Given the description of an element on the screen output the (x, y) to click on. 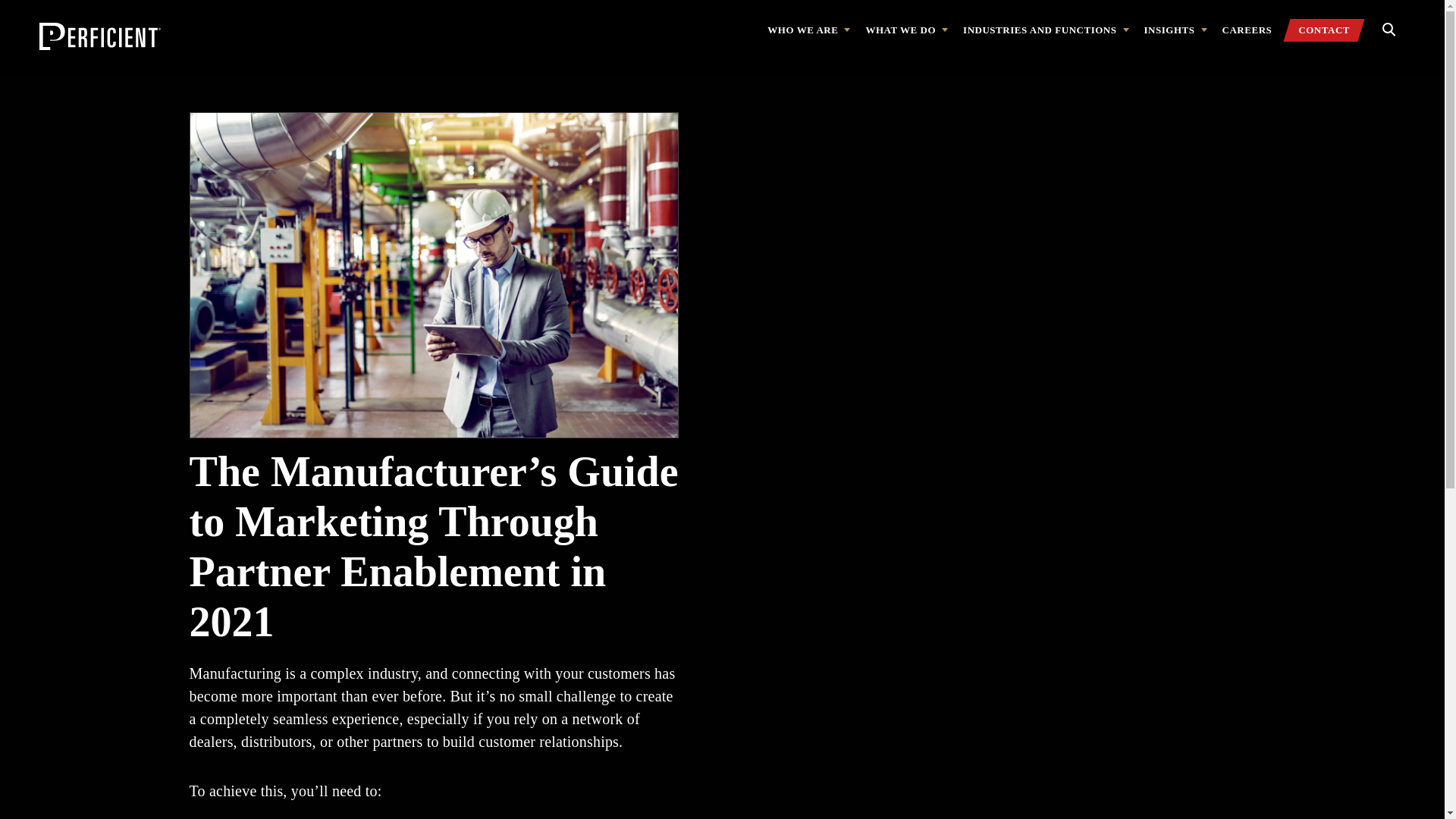
INSIGHTS (1175, 29)
WHO WE ARE (808, 29)
INDUSTRIES AND FUNCTIONS (1045, 29)
CONTACT (1324, 29)
CAREERS (1247, 29)
WHAT WE DO (905, 29)
